Given the description of an element on the screen output the (x, y) to click on. 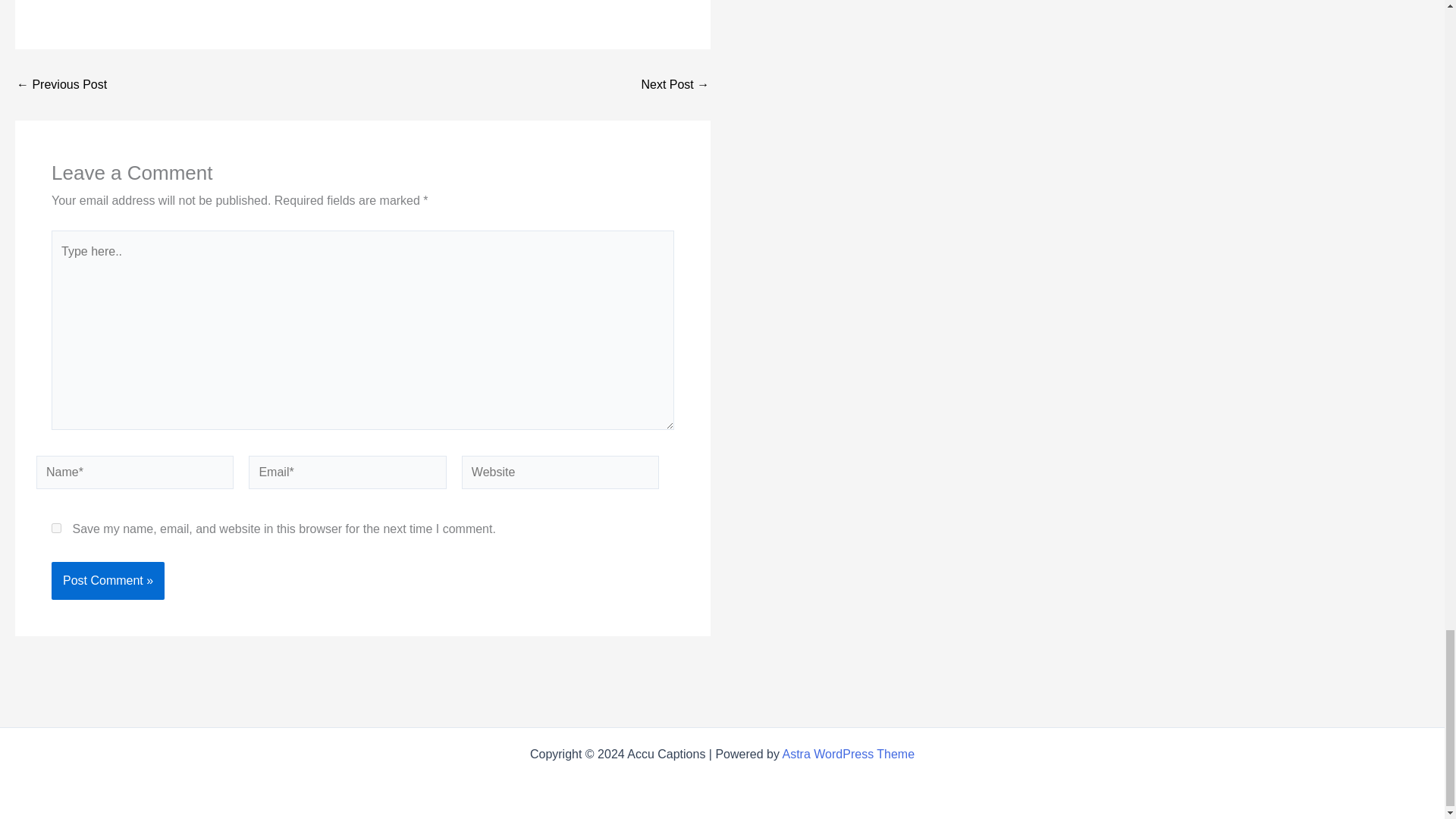
yes (55, 528)
